Given the description of an element on the screen output the (x, y) to click on. 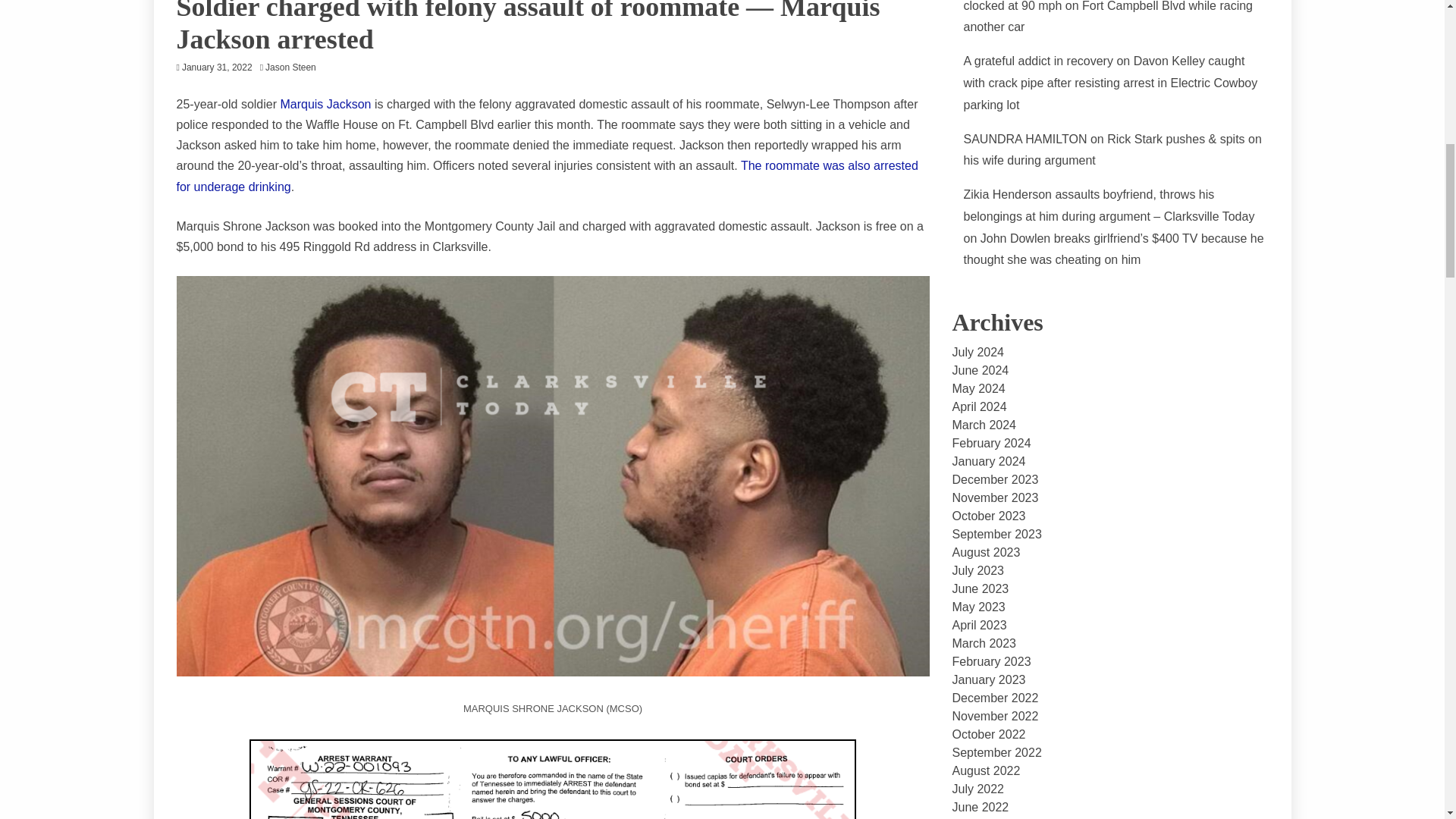
Marquis Jackson (325, 103)
The roommate was also arrested for underage drinking (546, 175)
January 31, 2022 (216, 67)
Jason Steen (293, 67)
